Given the description of an element on the screen output the (x, y) to click on. 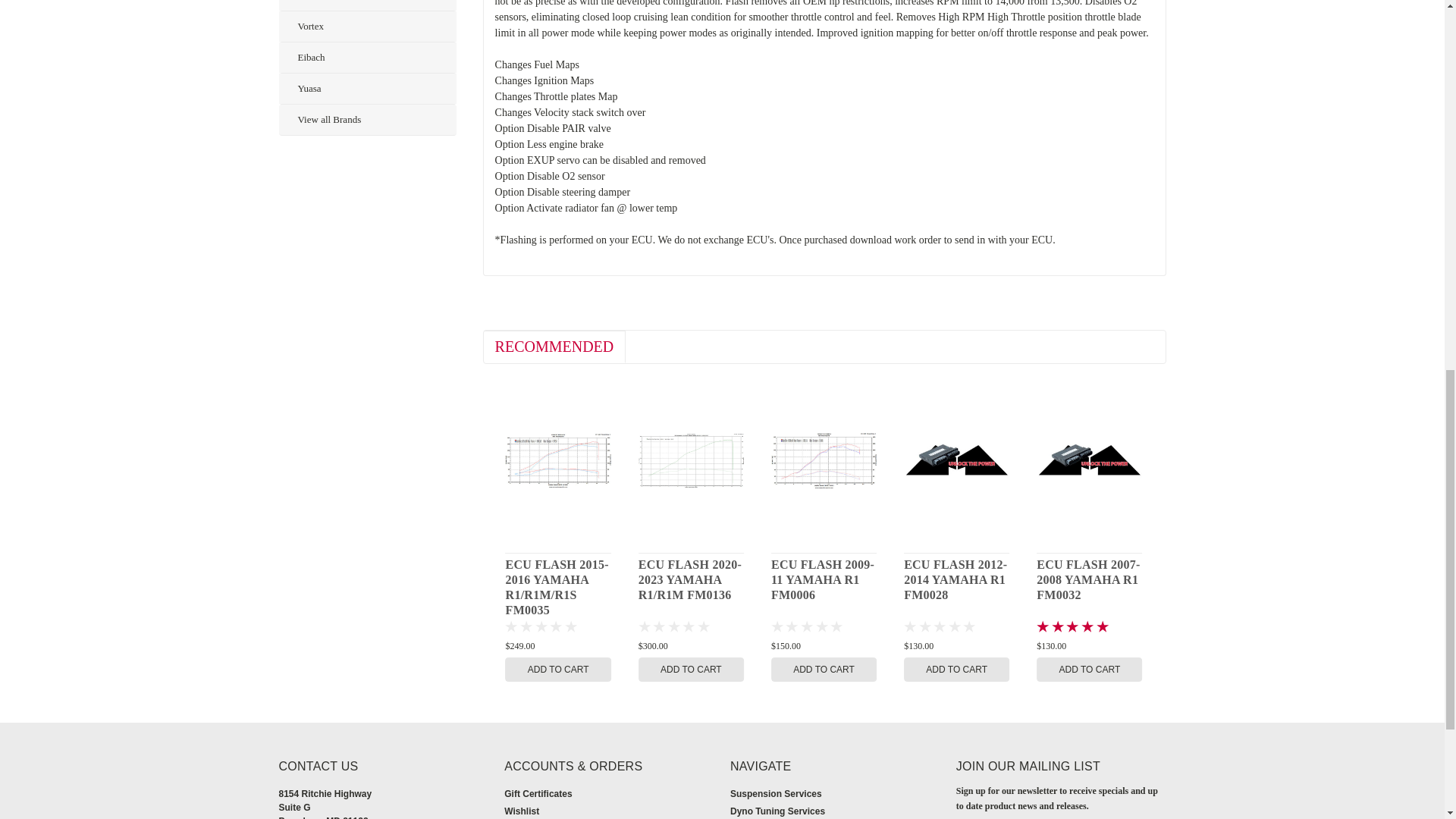
ECU FLASH 2009-11 YAMAHA R1 FM0006 (823, 460)
2020 2023 Yamaha YZF R1 ECU Flash FM0136 dyno run graph (691, 461)
ECU FLASH 2012-2014 YAMAHA R1 FM0028 (956, 460)
ECU FLASH 2007-2008 YAMAHA R1 FM0032 (1088, 460)
